Given the description of an element on the screen output the (x, y) to click on. 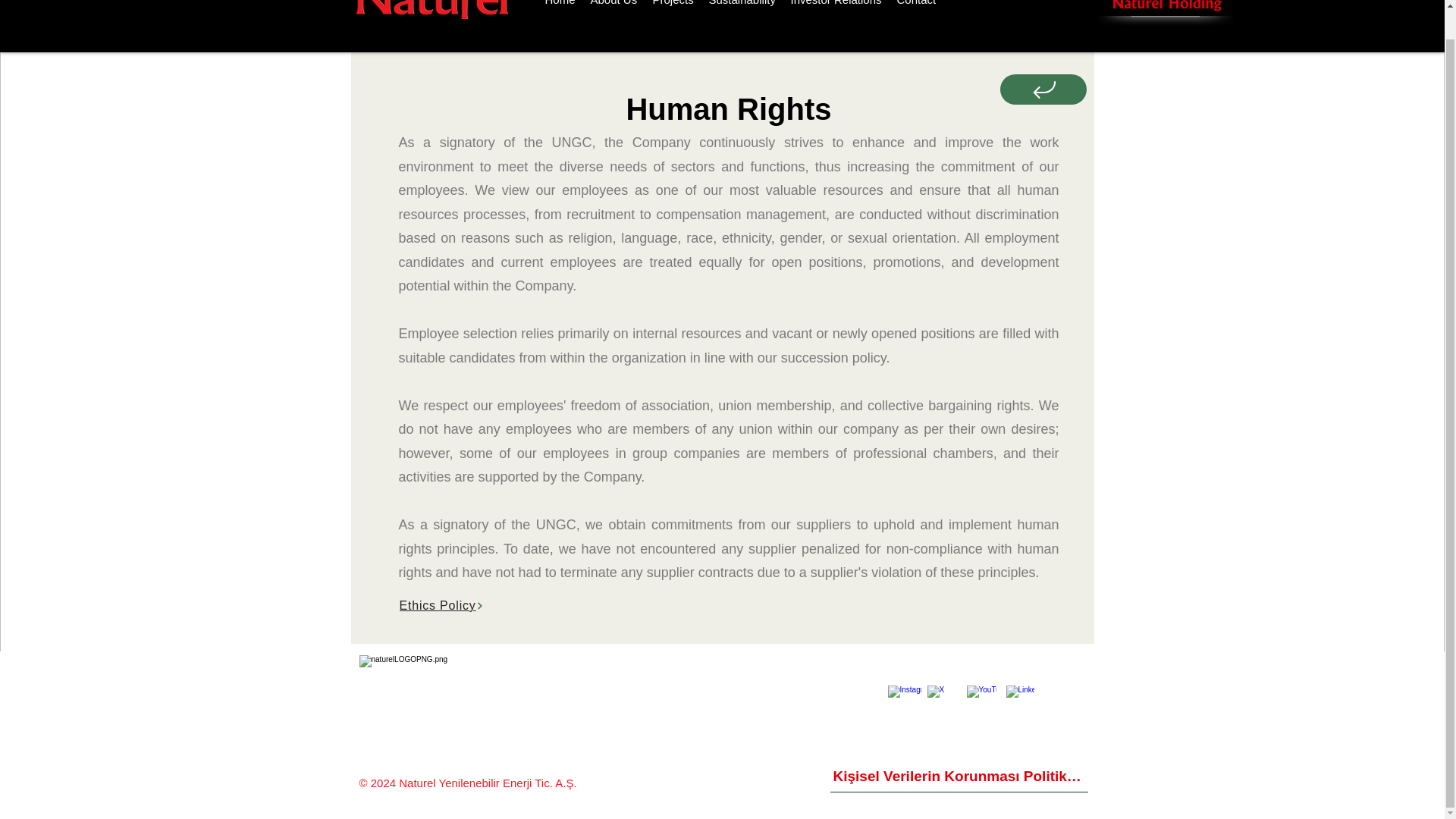
Ethics Policy (728, 605)
Home (559, 5)
Sustainability (741, 5)
Contact (915, 5)
About Us (613, 5)
Investor Relations (835, 5)
Back (1044, 114)
Projects (672, 5)
